Given the description of an element on the screen output the (x, y) to click on. 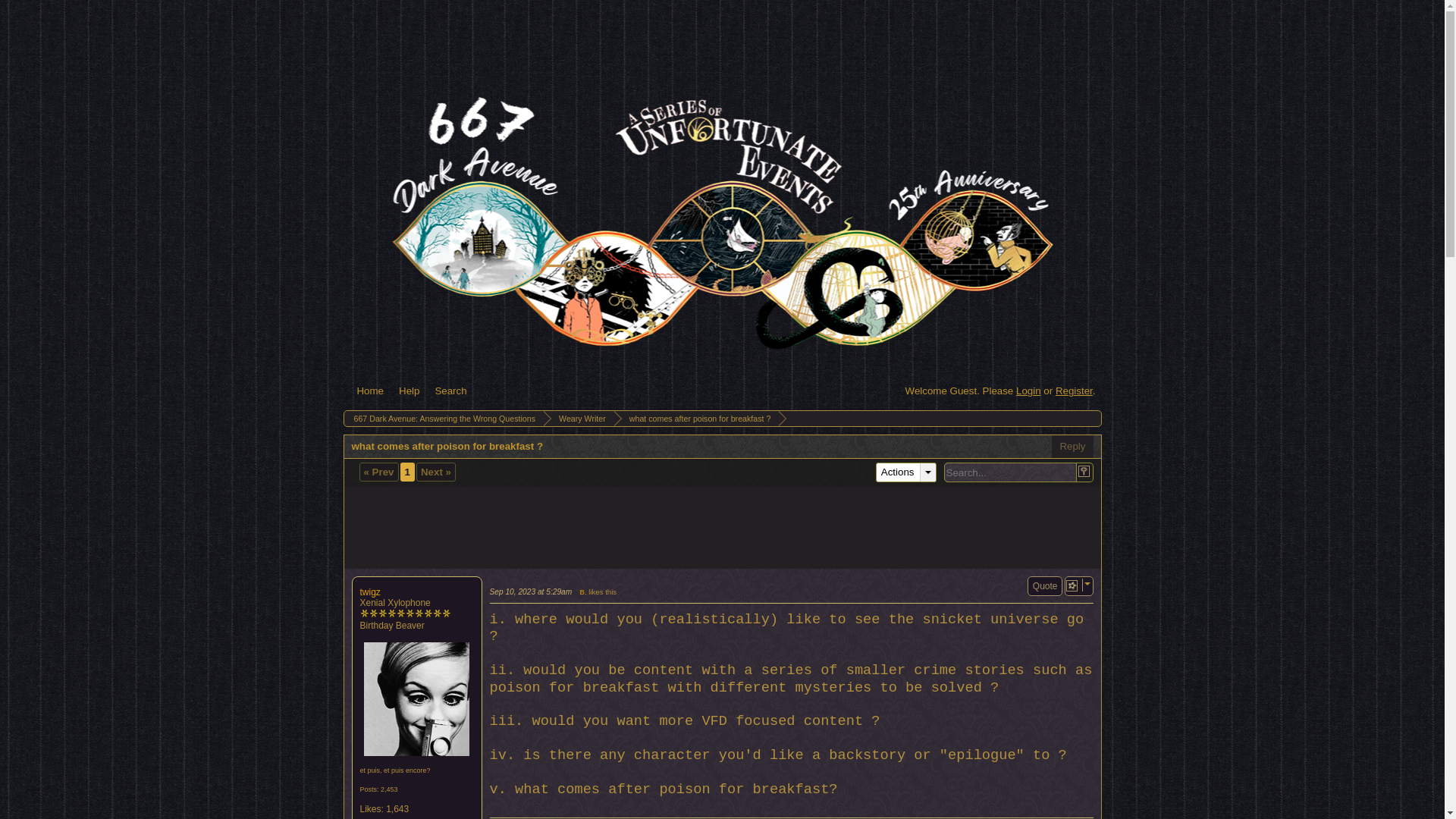
Search (450, 390)
what comes after poison for breakfast ? (697, 418)
Post Options (1071, 585)
Login (1028, 390)
667 Dark Avenue: Answering the Wrong Questions (442, 418)
Help (408, 390)
twigz (416, 698)
Register (1074, 390)
Weary Writer (579, 418)
Home (370, 390)
